Given the description of an element on the screen output the (x, y) to click on. 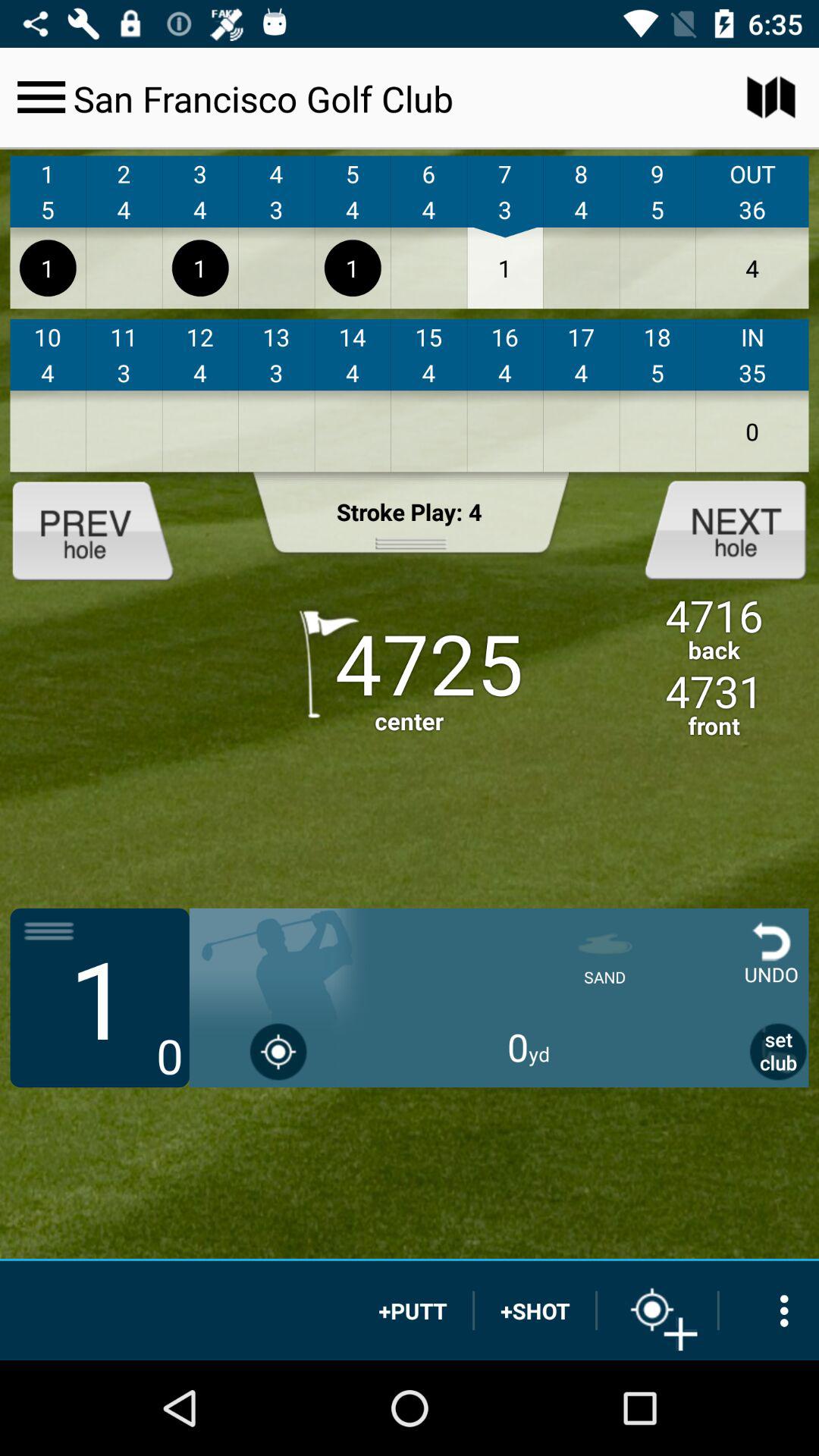
open menu (41, 97)
